Given the description of an element on the screen output the (x, y) to click on. 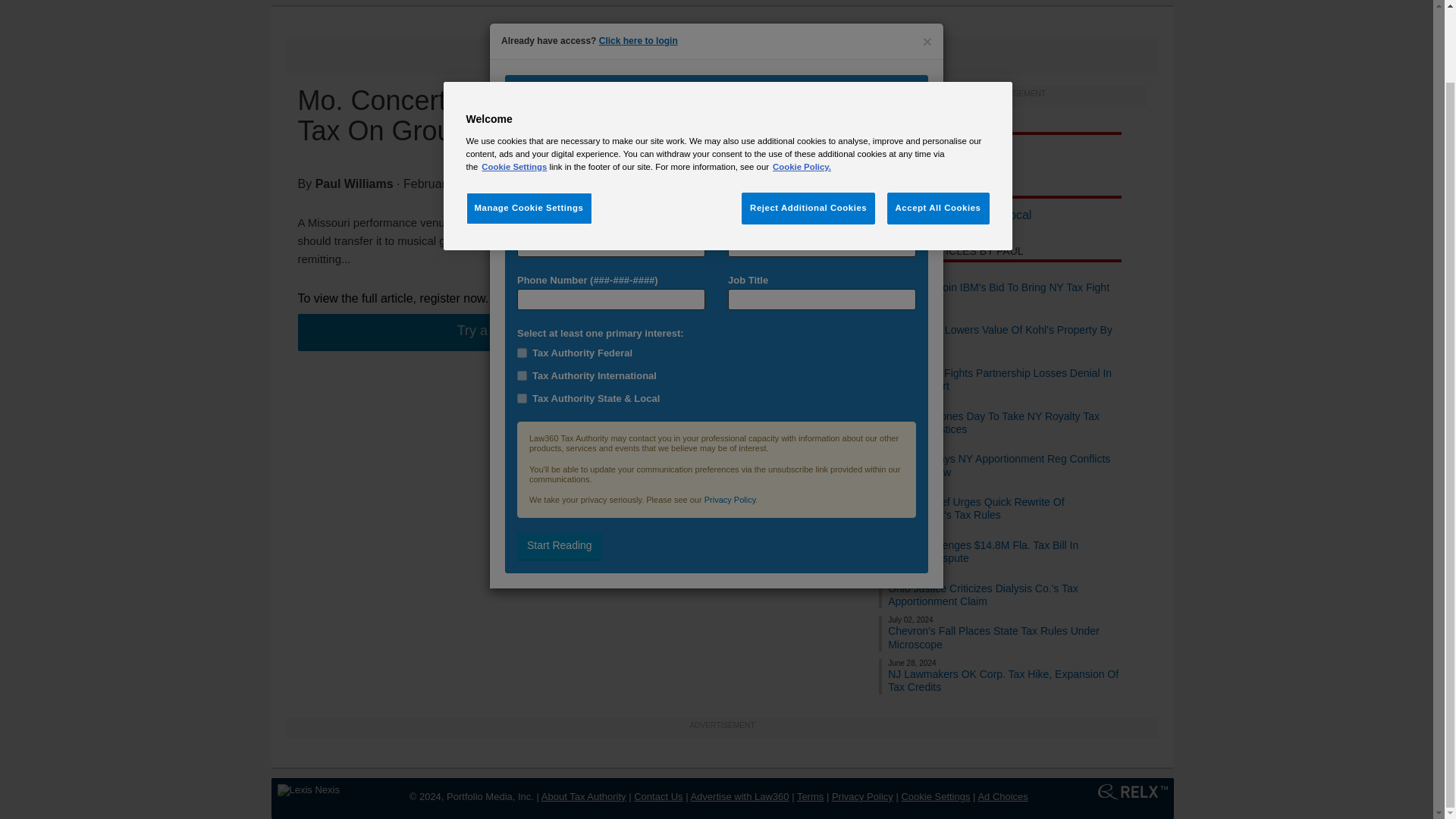
tax-authority-state-local (521, 317)
Privacy Policy (862, 796)
Terms of Use (810, 796)
Advertise with Law360 (739, 796)
Try Law360 Tax Authority FREE for seven days (540, 332)
Select an Interest Area (715, 296)
tax-authority-international (521, 295)
tax-authority-federal (521, 272)
